Given the description of an element on the screen output the (x, y) to click on. 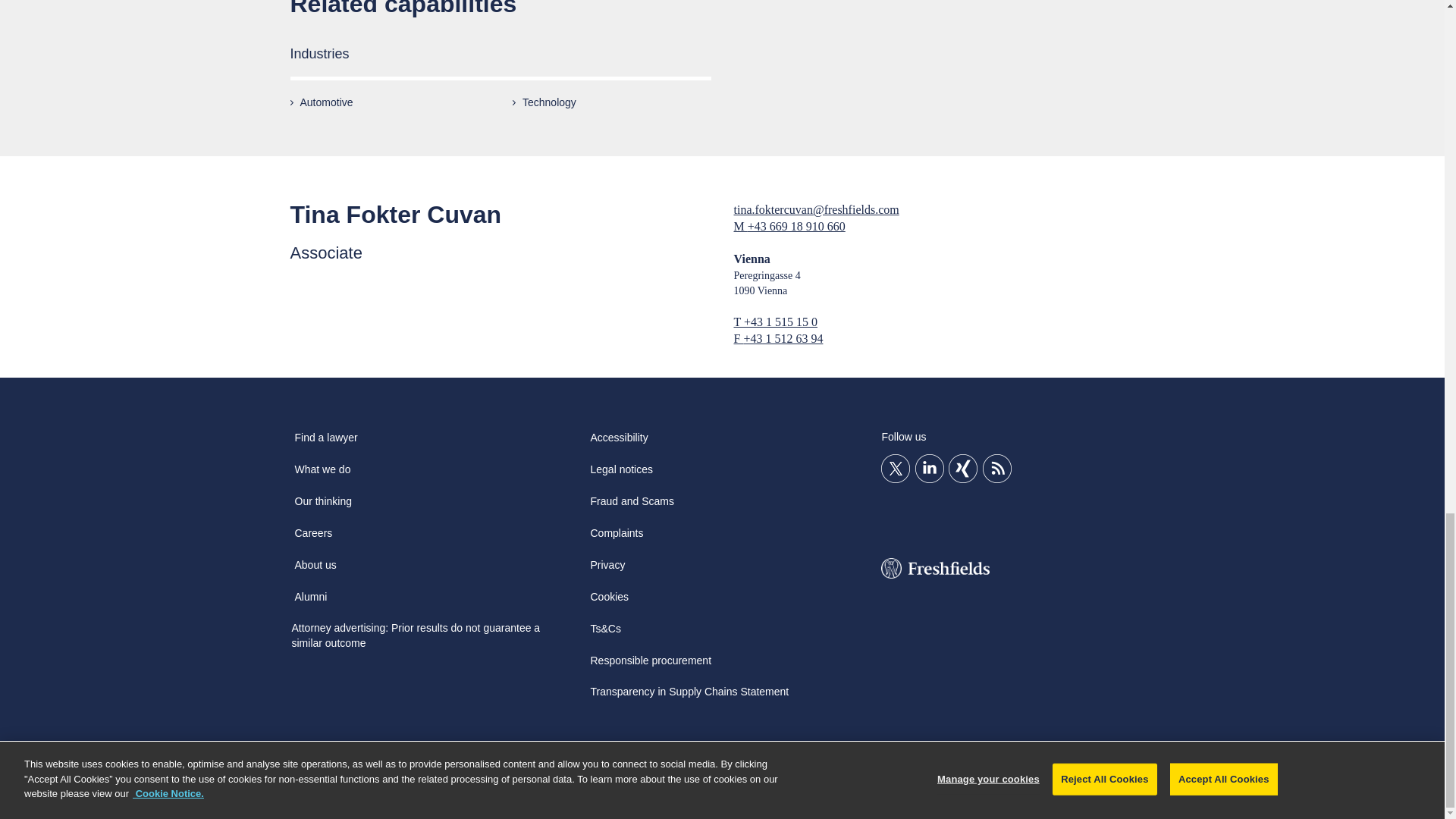
Find a lawyer (325, 442)
Mobile Number (740, 226)
